Given the description of an element on the screen output the (x, y) to click on. 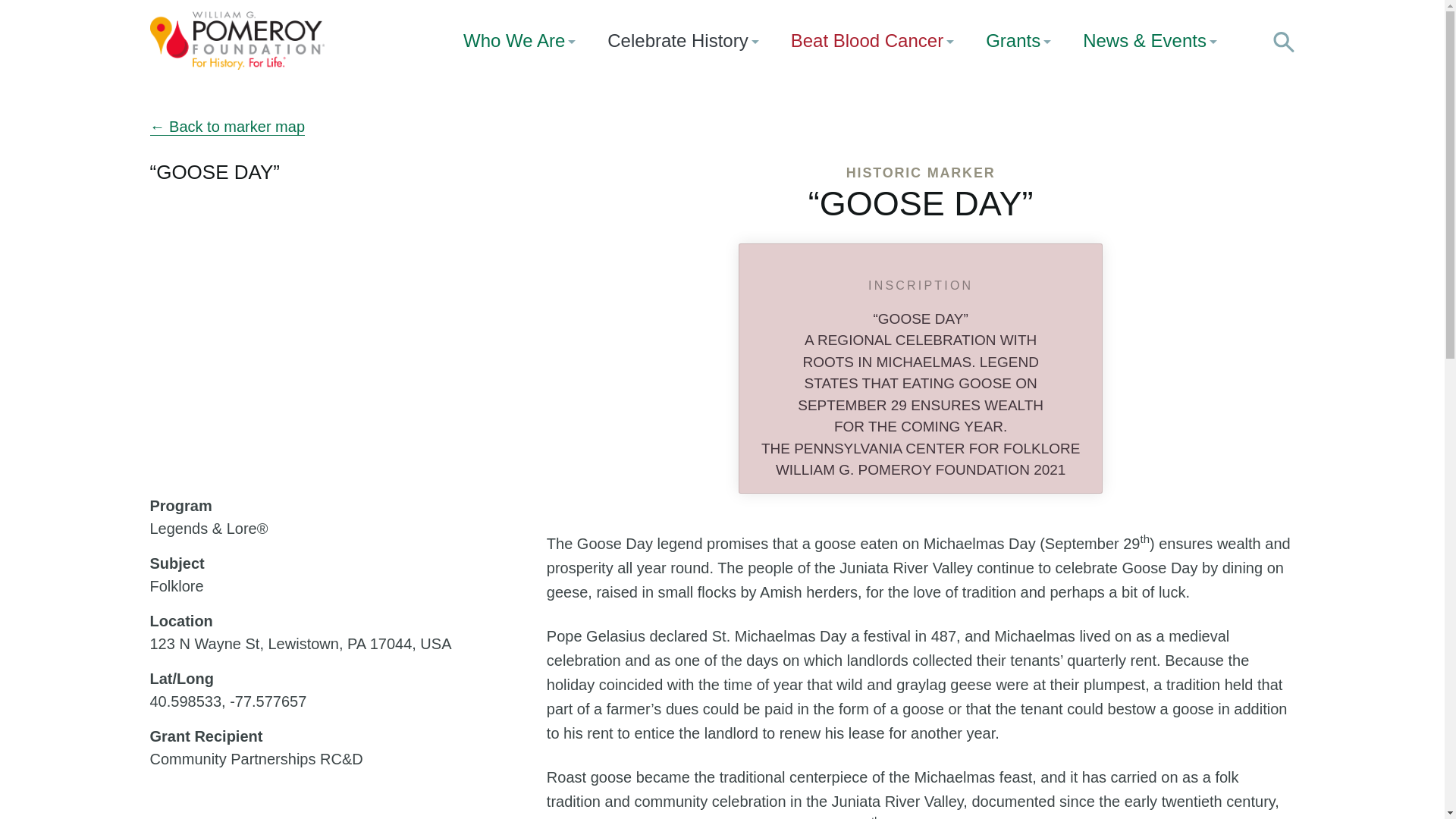
Grants (1018, 40)
Who We Are (518, 40)
Celebrate History (682, 40)
Beat Blood Cancer (871, 40)
